Given the description of an element on the screen output the (x, y) to click on. 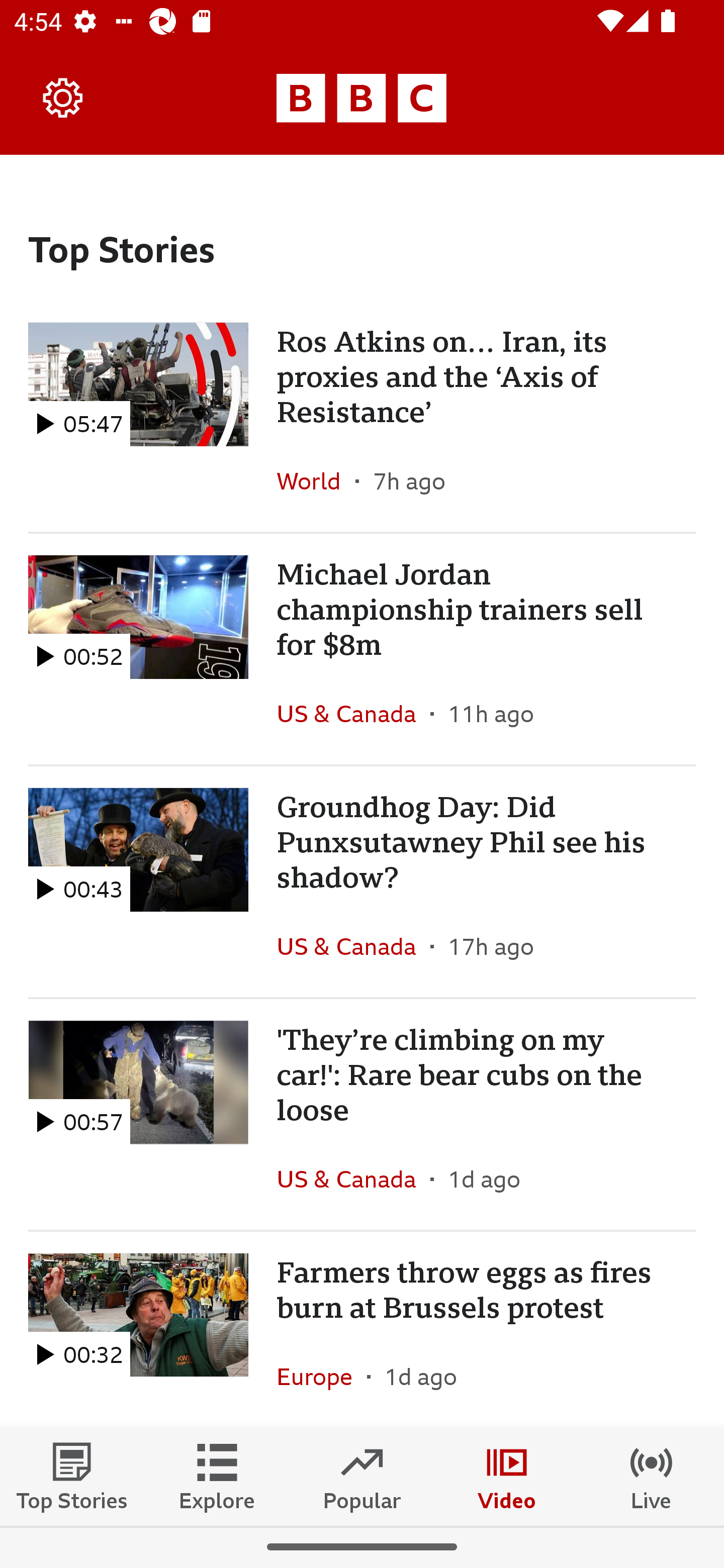
Settings (63, 97)
World In the section World (315, 480)
US & Canada In the section US & Canada (353, 714)
US & Canada In the section US & Canada (353, 946)
US & Canada In the section US & Canada (353, 1178)
Europe In the section Europe (321, 1376)
Top Stories (72, 1475)
Explore (216, 1475)
Popular (361, 1475)
Live (651, 1475)
